Given the description of an element on the screen output the (x, y) to click on. 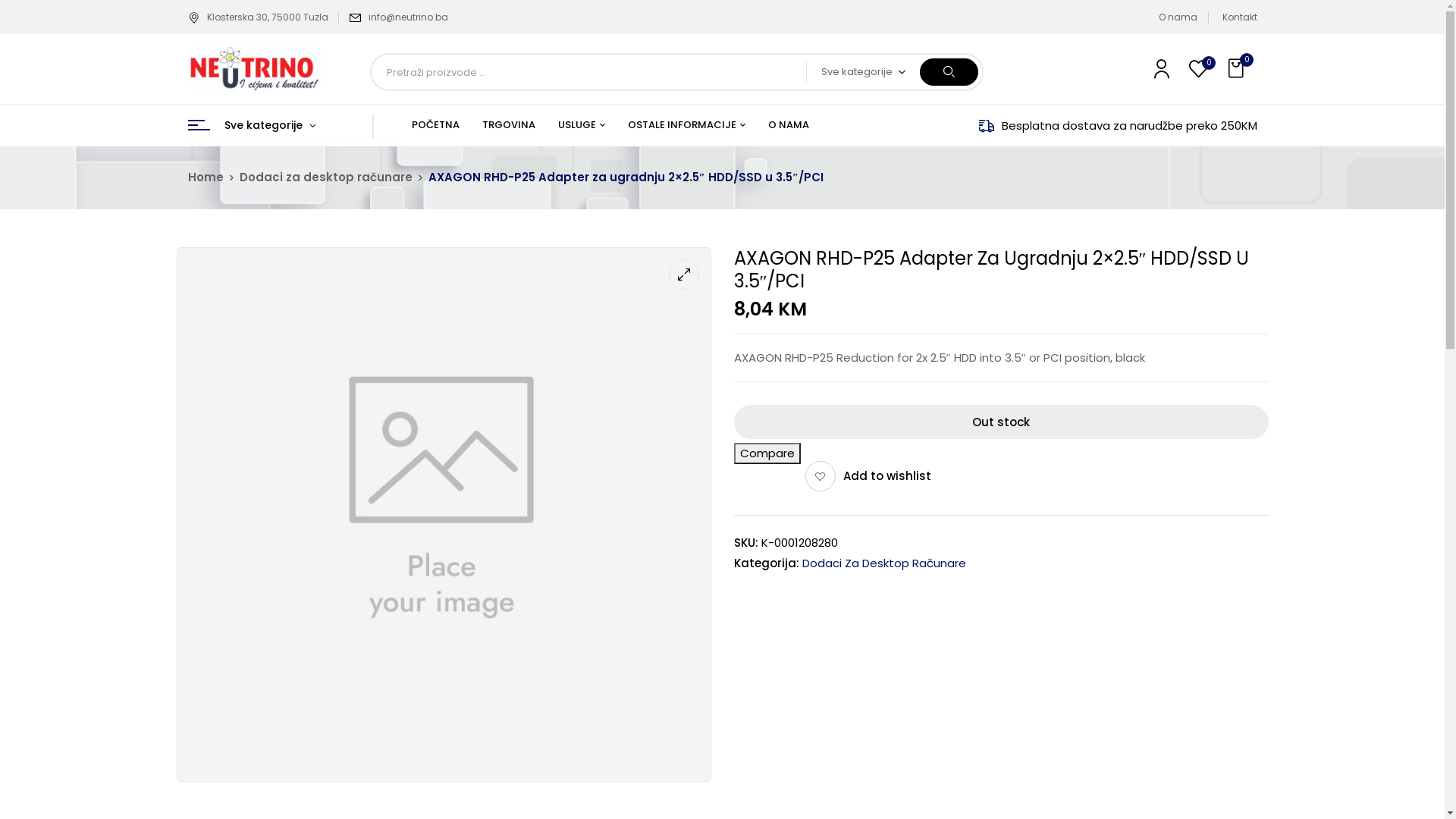
Kontakt Element type: text (1239, 16)
O nama Element type: text (1177, 16)
TRGOVINA Element type: text (508, 125)
0 Element type: text (1237, 68)
Klosterska 30, 75000 Tuzla Element type: text (258, 16)
O NAMA Element type: text (787, 125)
info@neutrino.ba Element type: text (408, 16)
Home Element type: text (205, 177)
Compare Element type: text (767, 453)
search Element type: text (948, 71)
USLUGE Element type: text (581, 125)
Add to wishlist Element type: text (867, 476)
OSTALE INFORMACIJE Element type: text (686, 125)
